Given the description of an element on the screen output the (x, y) to click on. 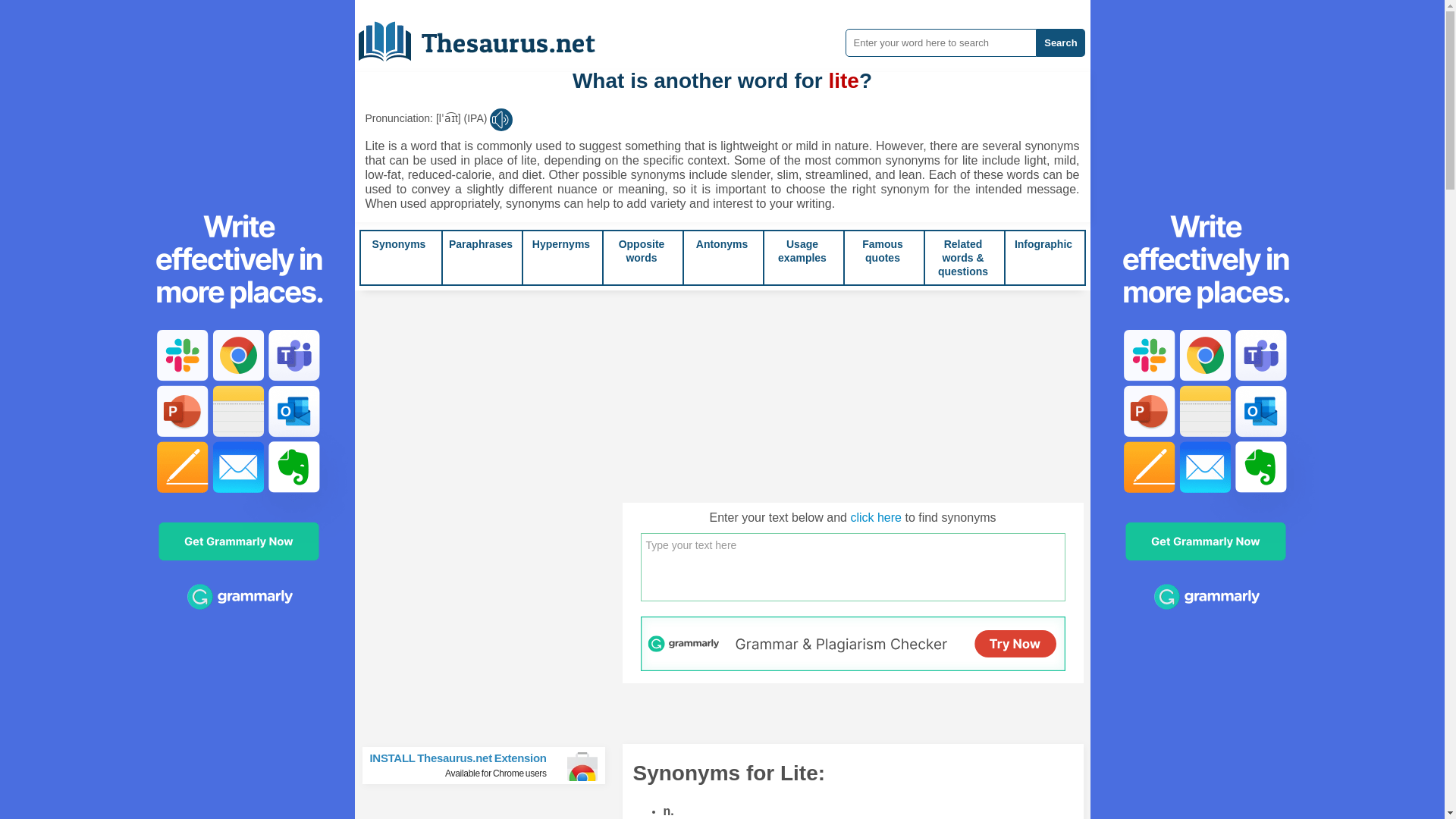
Thesaurus.net (487, 35)
click here (875, 517)
Search (1060, 42)
Hypernyms (560, 244)
Paraphrases (480, 244)
Paraphrases (480, 244)
Opposite words (641, 250)
Famous quotes (881, 250)
Synonyms (399, 244)
